Given the description of an element on the screen output the (x, y) to click on. 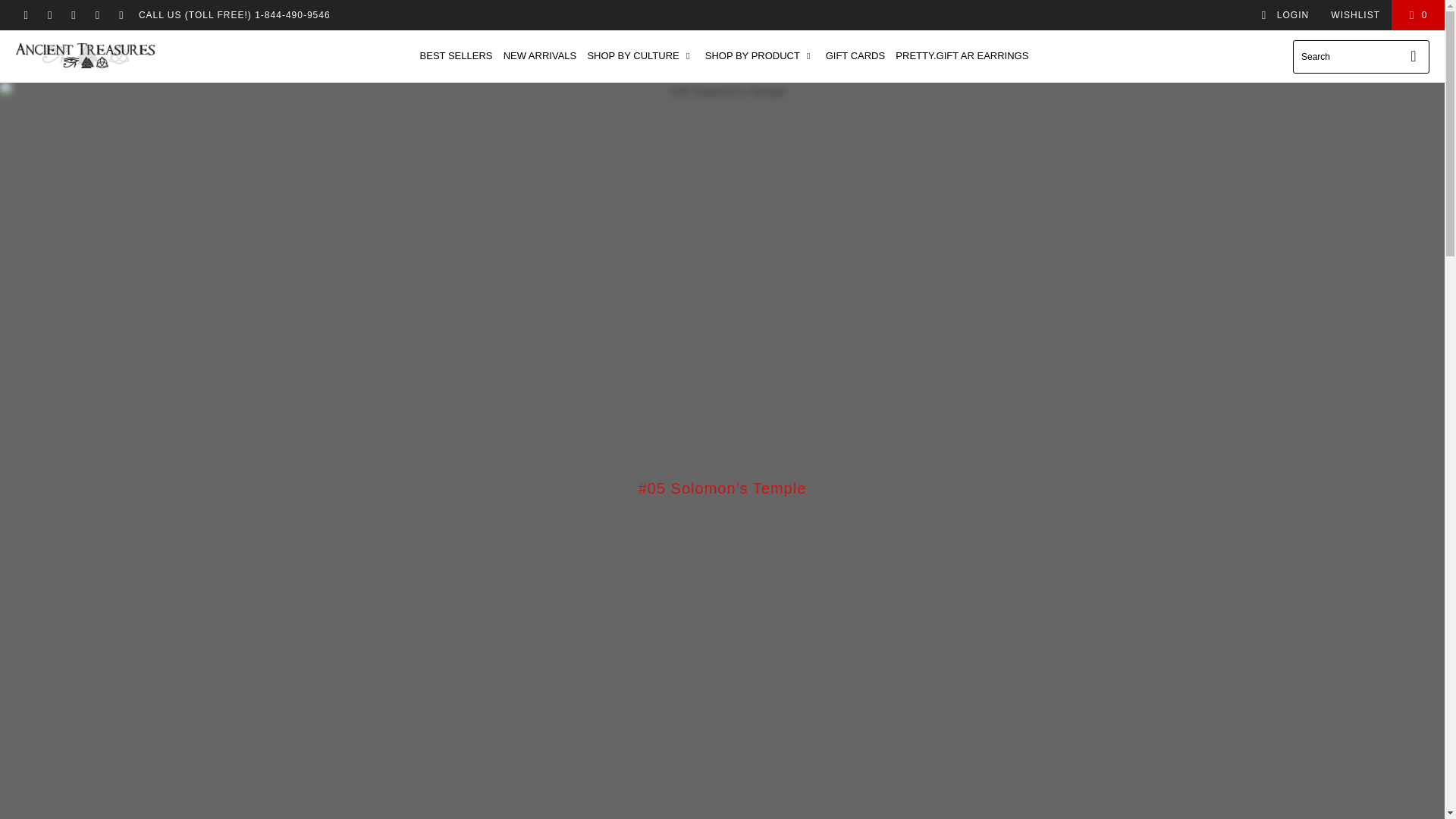
Email Ancient Treasures (121, 14)
Ancient Treasures on Facebook (48, 14)
My Account  (1284, 15)
Ancient Treasures (84, 56)
Ancient Treasures on Pinterest (73, 14)
Ancient Treasures on Twitter (25, 14)
Ancient Treasures on Instagram (96, 14)
